Given the description of an element on the screen output the (x, y) to click on. 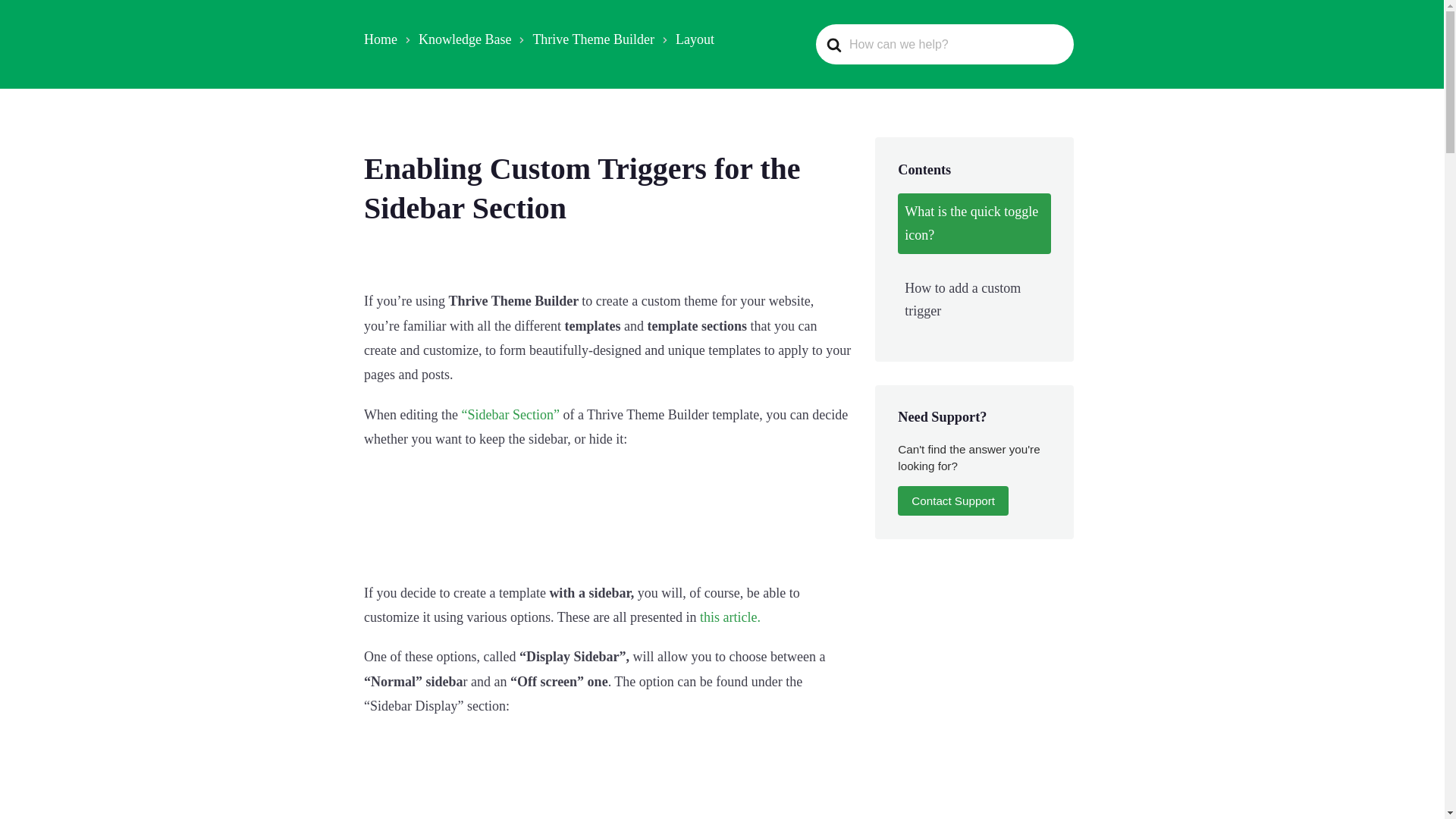
Layout (694, 38)
What is the quick toggle icon? (973, 223)
How to add a custom trigger (973, 300)
Thrive Theme Builder (592, 38)
Home (380, 38)
Knowledge Base (465, 38)
this article. (730, 616)
Contact Support (953, 500)
